Given the description of an element on the screen output the (x, y) to click on. 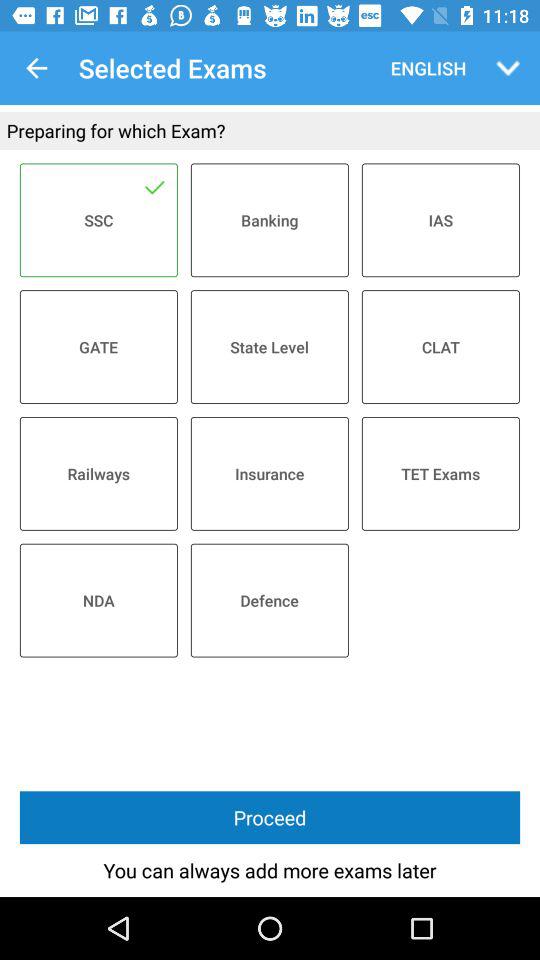
turn off english (423, 67)
